Given the description of an element on the screen output the (x, y) to click on. 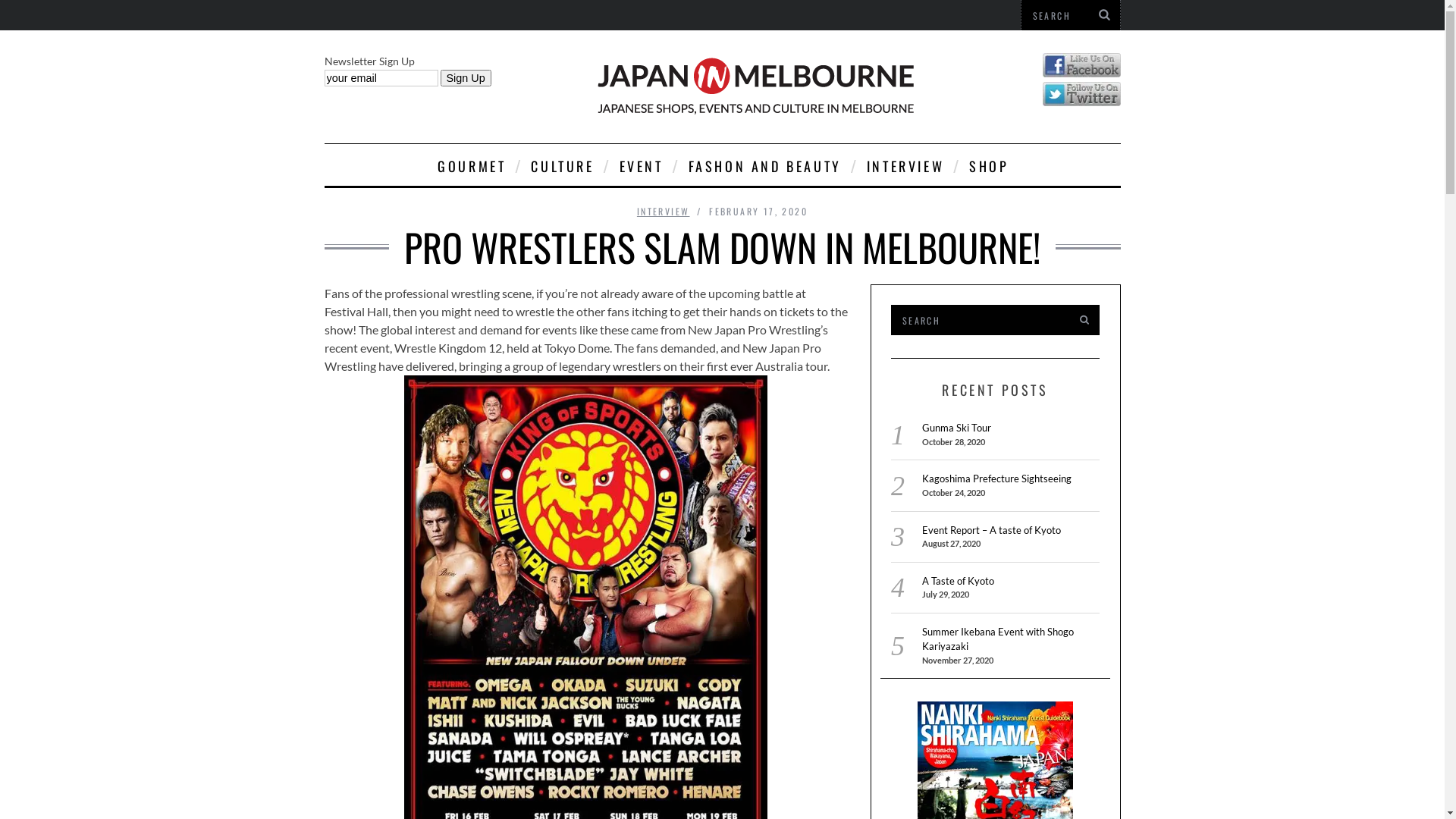
SHOP Element type: text (987, 164)
japan-in-melbounrne - Japan in Melbourne Element type: hover (753, 86)
INTERVIEW Element type: text (904, 164)
Kagoshima Prefecture Sightseeing Element type: text (996, 478)
FASHON AND BEAUTY Element type: text (763, 164)
A Taste of Kyoto Element type: text (958, 580)
GOURMET Element type: text (470, 164)
Gunma Ski Tour Element type: text (956, 427)
Sign Up Element type: text (464, 77)
Summer Ikebana Event with Shogo Kariyazaki Element type: text (997, 638)
INTERVIEW Element type: text (663, 210)
CULTURE Element type: text (560, 164)
EVENT Element type: text (640, 164)
